Given the description of an element on the screen output the (x, y) to click on. 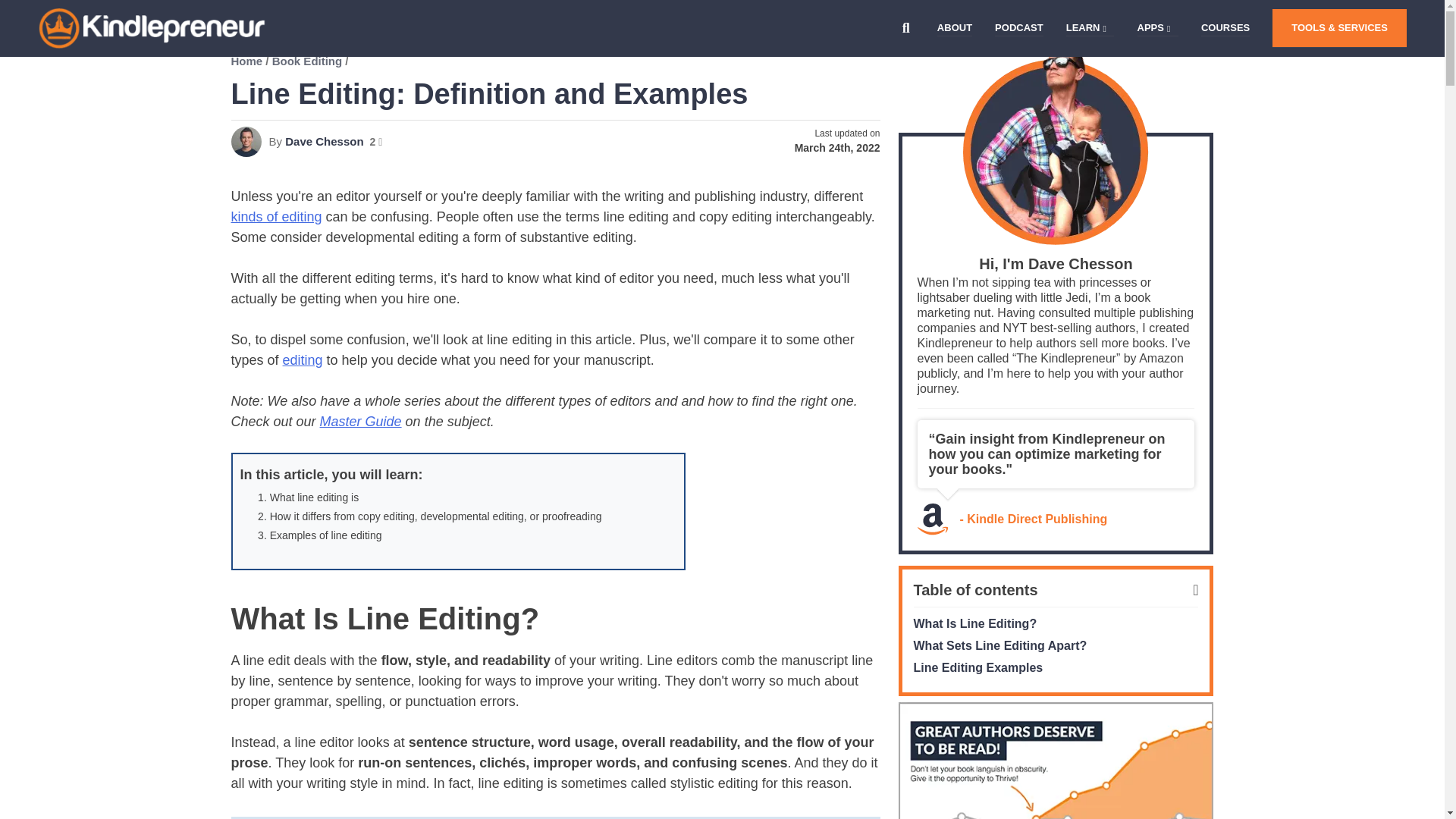
LEARN (1082, 28)
PODCAST (1018, 28)
APPS (1150, 28)
COURSES (1225, 28)
ABOUT (954, 28)
Kindlepreneur (79, 72)
